Given the description of an element on the screen output the (x, y) to click on. 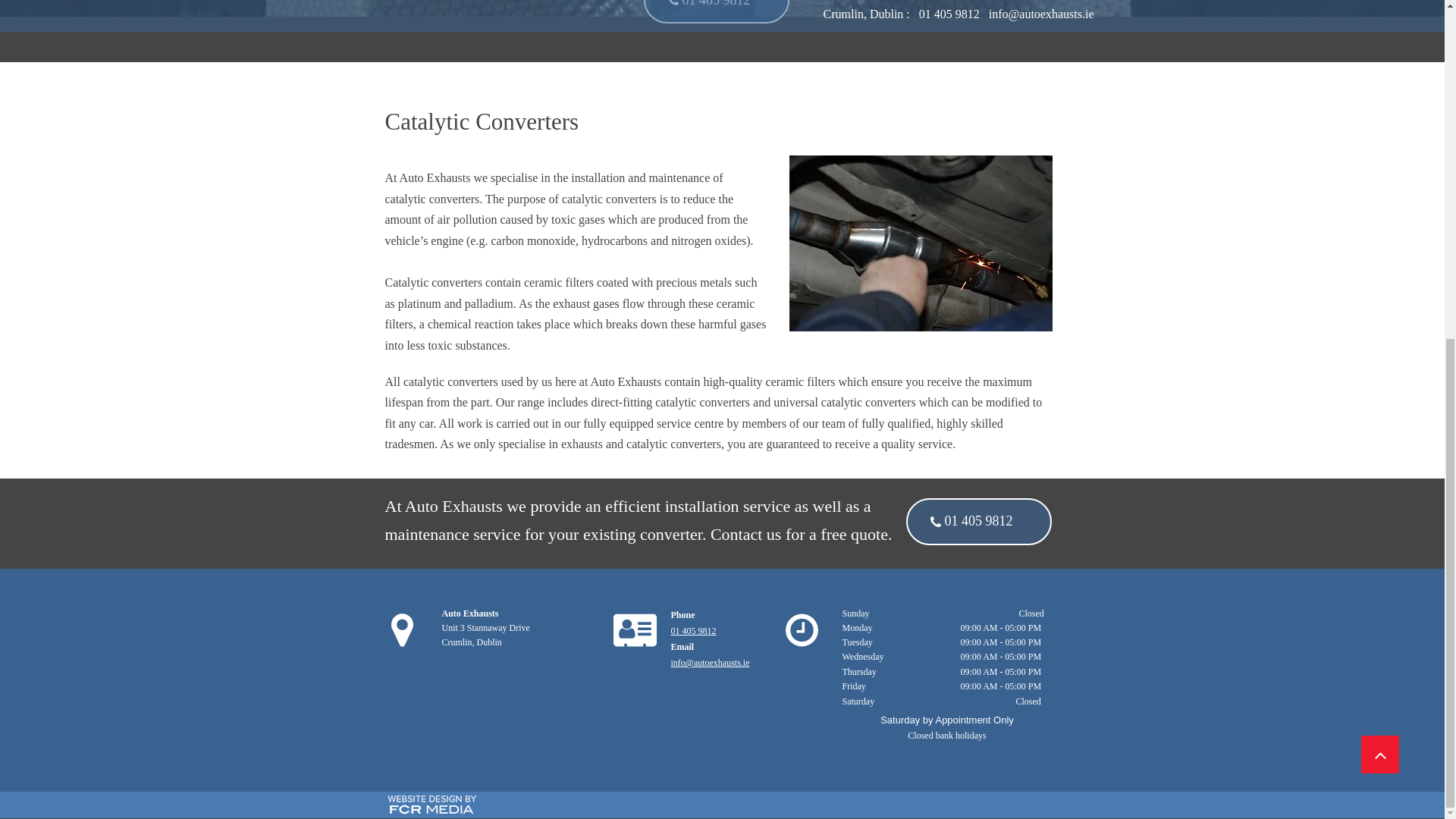
01 405 9812 (716, 11)
01 405 9812 (692, 630)
01 405 9812 (978, 521)
